Given the description of an element on the screen output the (x, y) to click on. 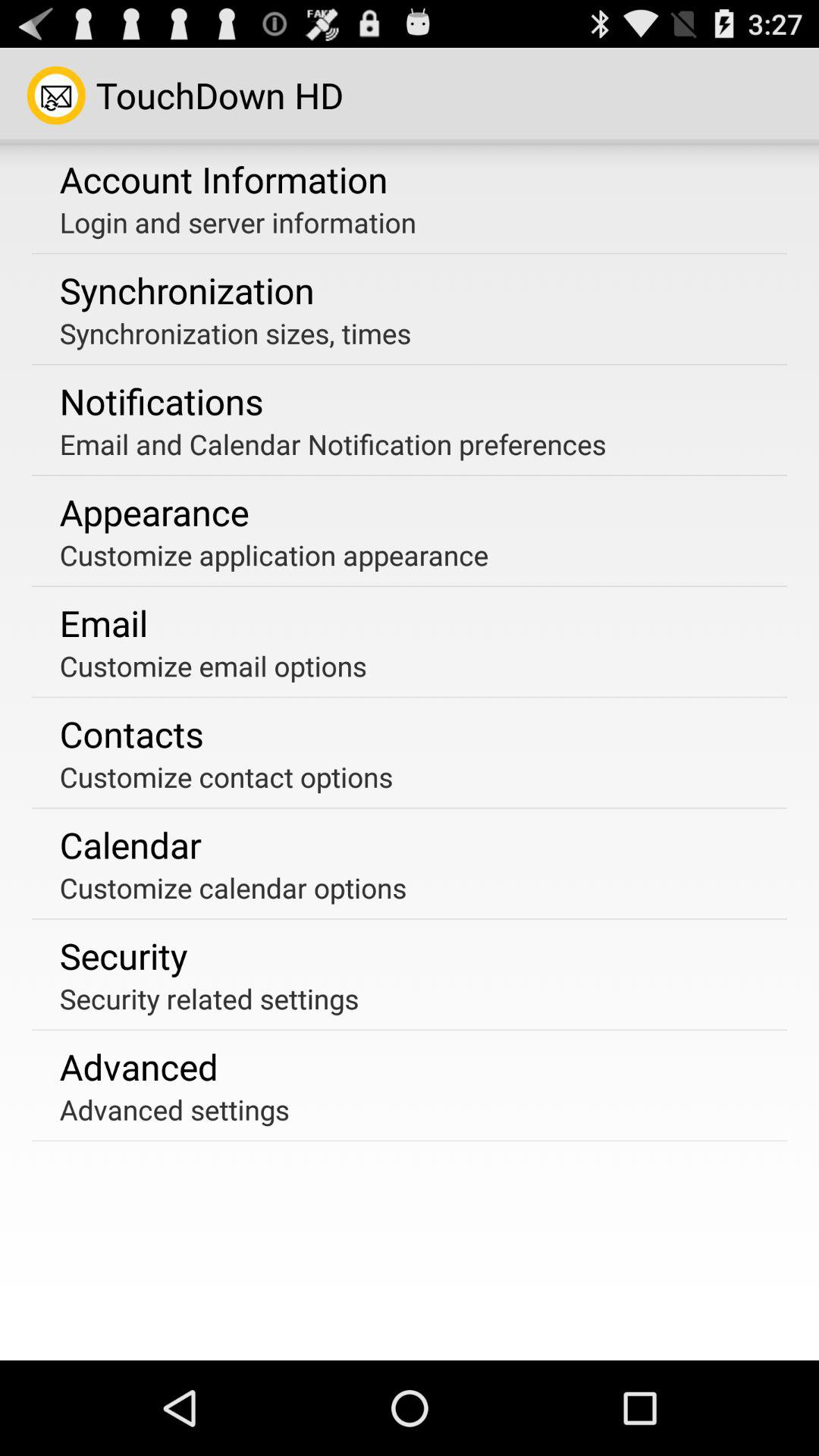
open item below advanced icon (174, 1109)
